Given the description of an element on the screen output the (x, y) to click on. 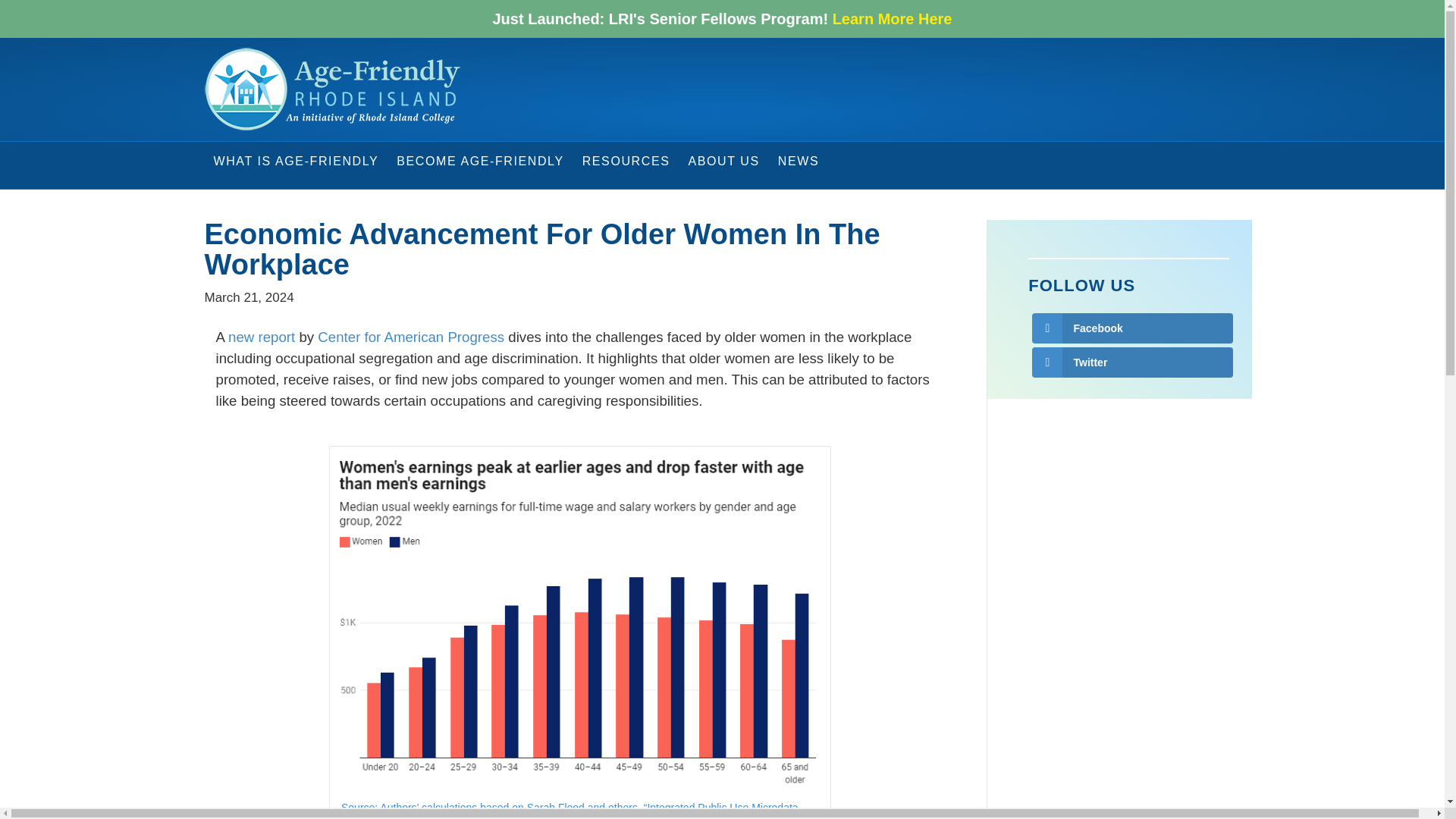
ABOUT US (723, 160)
Twitter (1132, 362)
RESOURCES (626, 160)
BECOME AGE-FRIENDLY (479, 160)
new report (261, 336)
WHAT IS AGE-FRIENDLY (296, 160)
Facebook (1132, 327)
Learn More Here (892, 18)
NEWS (798, 160)
Center for American Progress (410, 336)
